Given the description of an element on the screen output the (x, y) to click on. 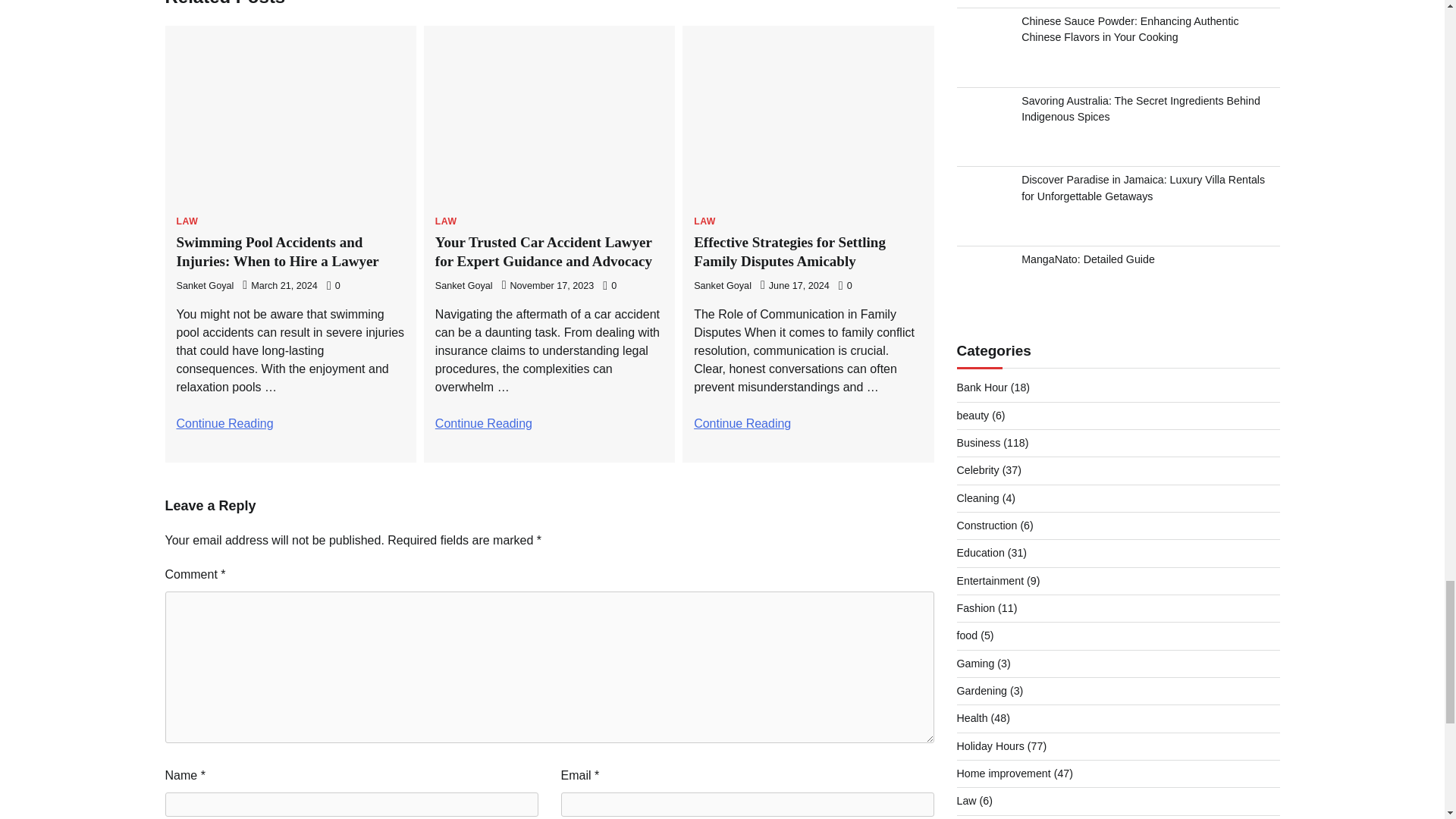
Sanket Goyal (204, 285)
LAW (187, 221)
Swimming Pool Accidents and Injuries: When to Hire a Lawyer (277, 251)
